Given the description of an element on the screen output the (x, y) to click on. 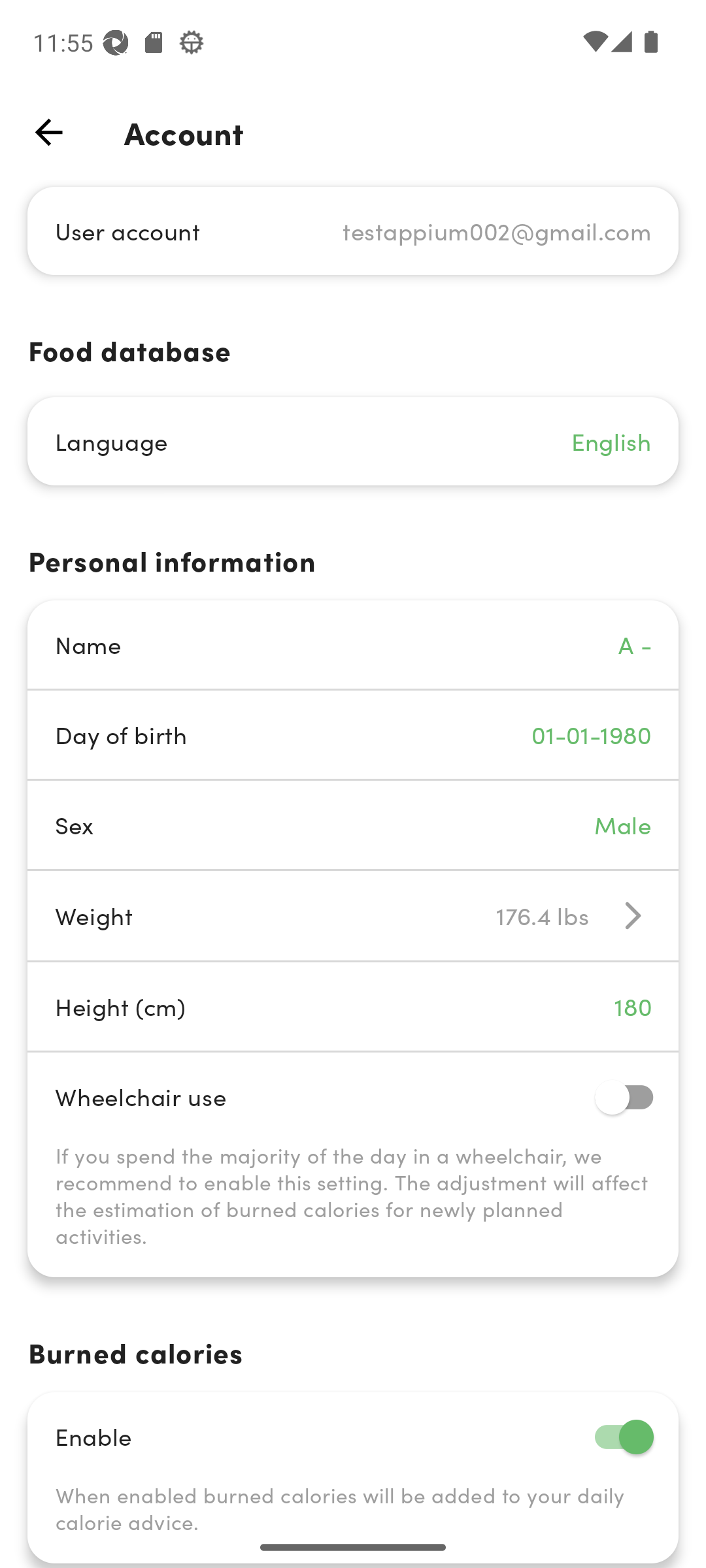
top_left_action (48, 132)
User account testappium002@gmail.com (352, 230)
Language English (352, 441)
Name A - (352, 644)
Day of birth 01-01-1980 (352, 734)
Sex Male (352, 824)
Weight 176.4 lbs (352, 914)
Height (cm) 180 (352, 1006)
Wheelchair use (352, 1096)
Enable (352, 1436)
